Given the description of an element on the screen output the (x, y) to click on. 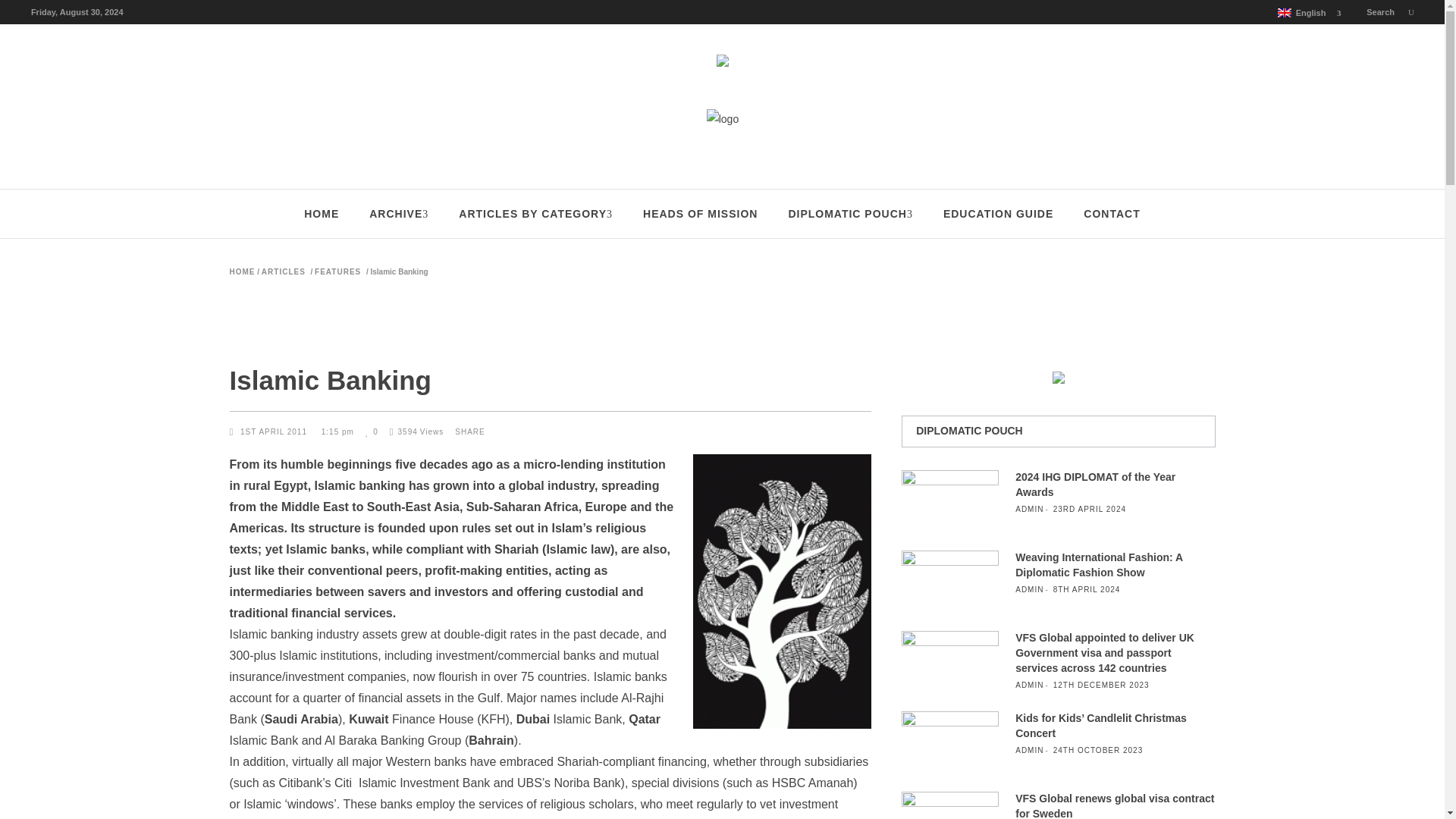
English (1284, 12)
ARCHIVE (398, 213)
ARTICLES BY CATEGORY (535, 213)
Like this (371, 431)
Search (1390, 11)
HOME (320, 213)
 English (1303, 12)
